Given the description of an element on the screen output the (x, y) to click on. 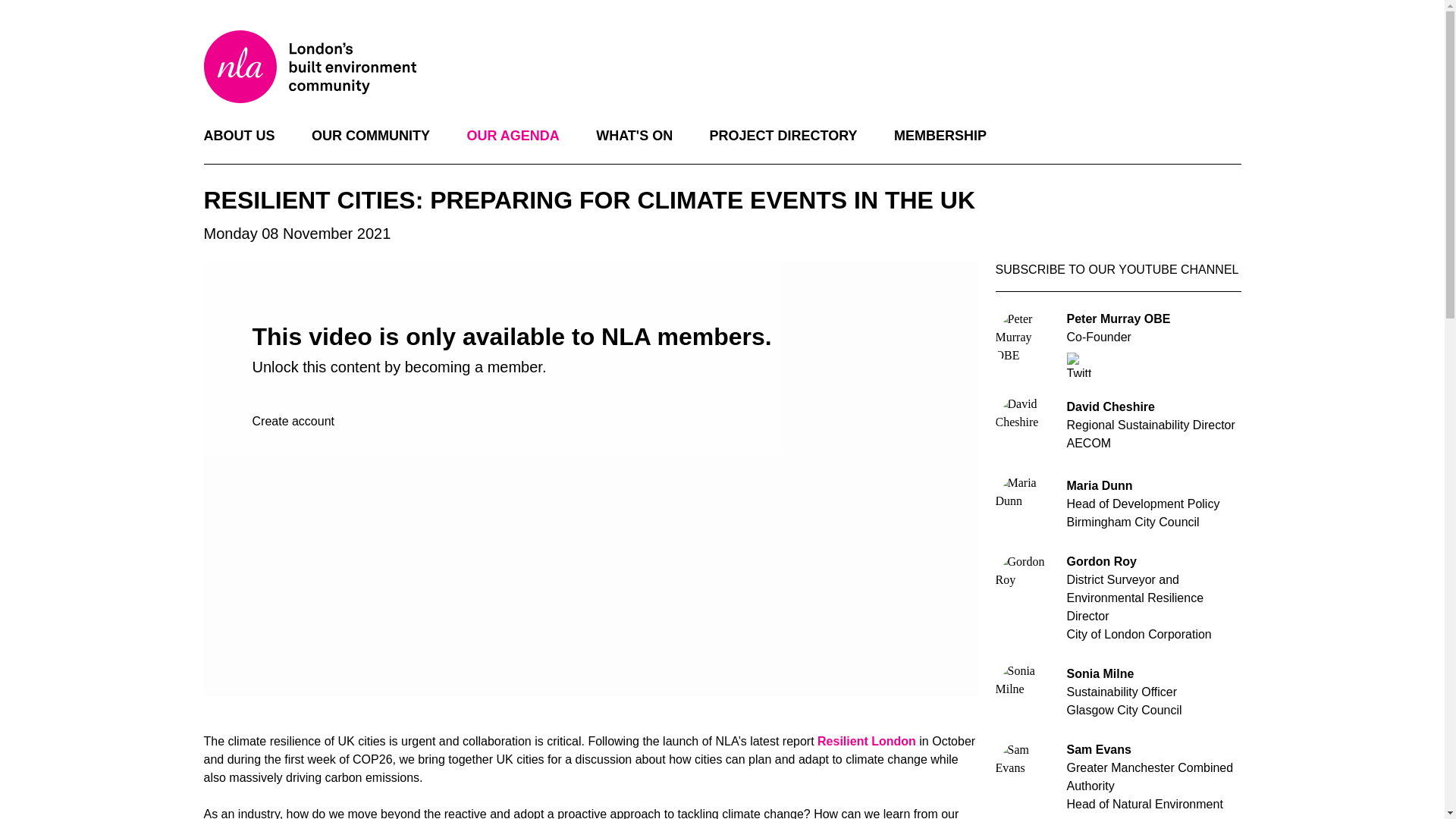
Maria Dunn (1024, 504)
Sam Evans (1024, 771)
Gordon Roy (1024, 582)
Sonia Milne (1024, 691)
David Cheshire (1024, 424)
Peter Murray OBE (1024, 340)
